Given the description of an element on the screen output the (x, y) to click on. 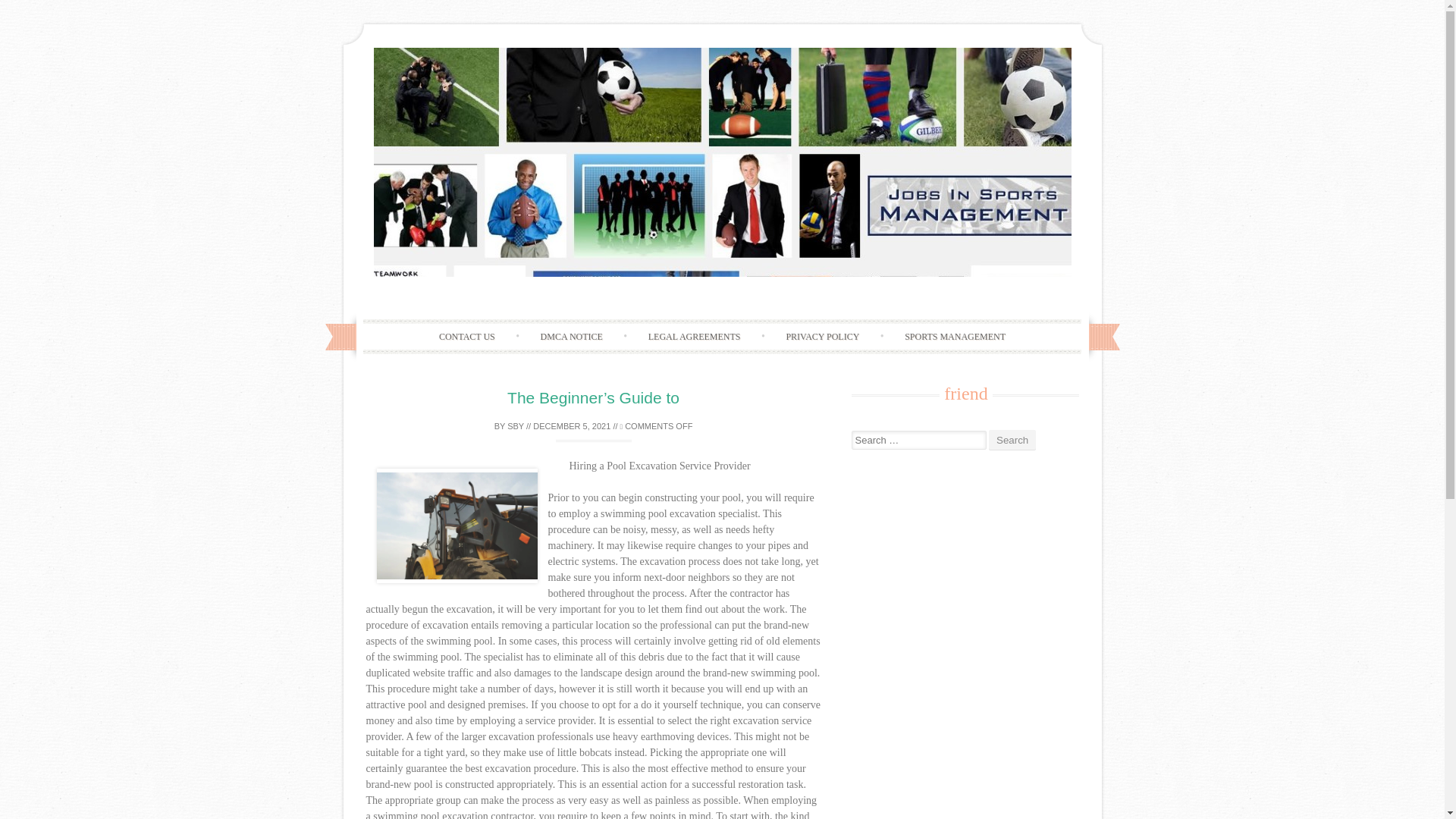
LEGAL AGREEMENTS (694, 336)
DMCA NOTICE (571, 336)
Search (1011, 439)
View all posts by sby (515, 425)
PRIVACY POLICY (822, 336)
Search (1011, 439)
1:47 pm (571, 425)
SBY (515, 425)
DECEMBER 5, 2021 (571, 425)
